Given the description of an element on the screen output the (x, y) to click on. 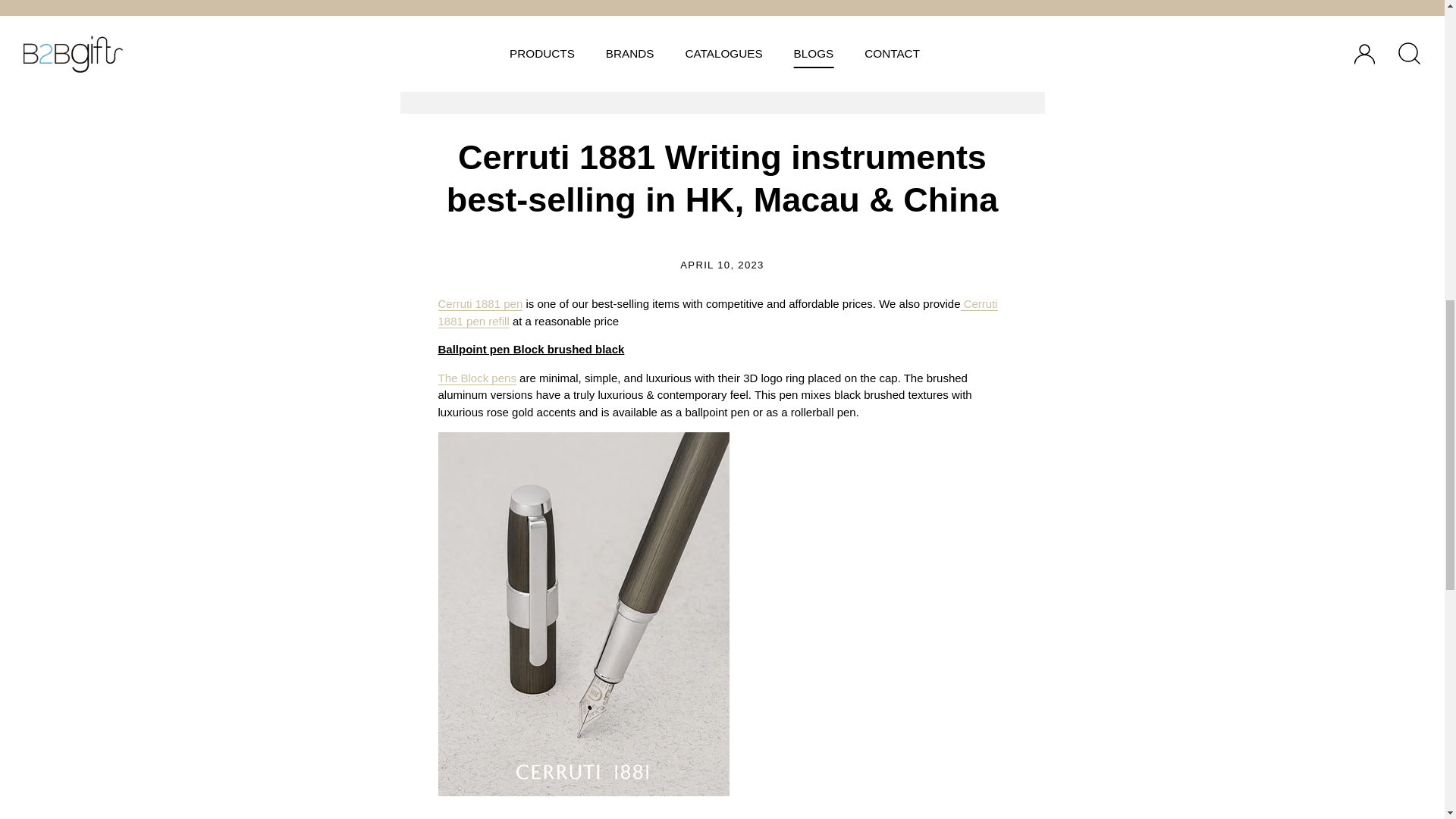
Cerruti 1881 Ballpoint pen Block in Black Brushed Aluminum (477, 377)
CERRUTI 1881 PEN REFILL (960, 304)
Cerruti 1881 pen refill (717, 312)
